Given the description of an element on the screen output the (x, y) to click on. 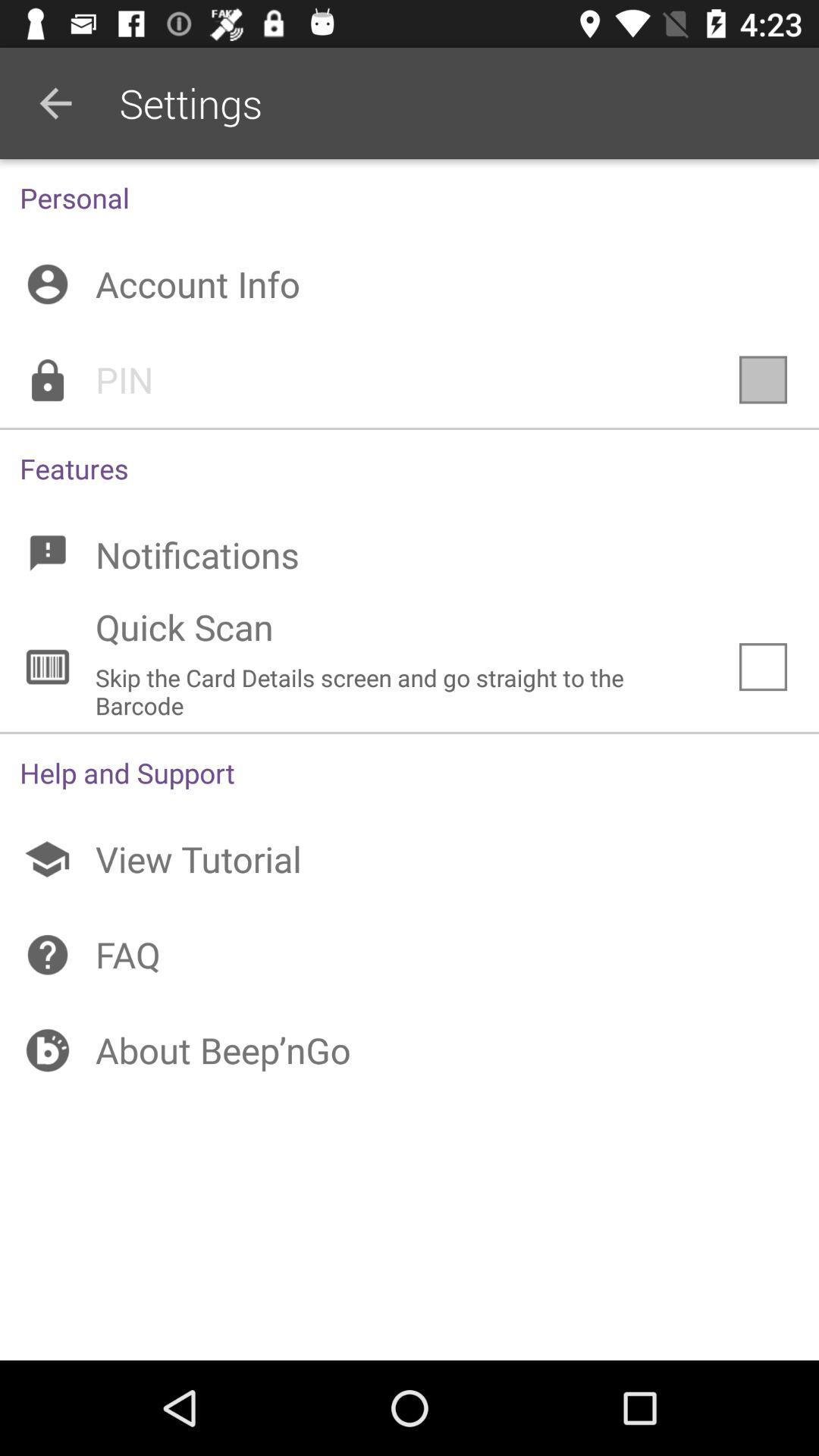
tap faq icon (409, 954)
